Given the description of an element on the screen output the (x, y) to click on. 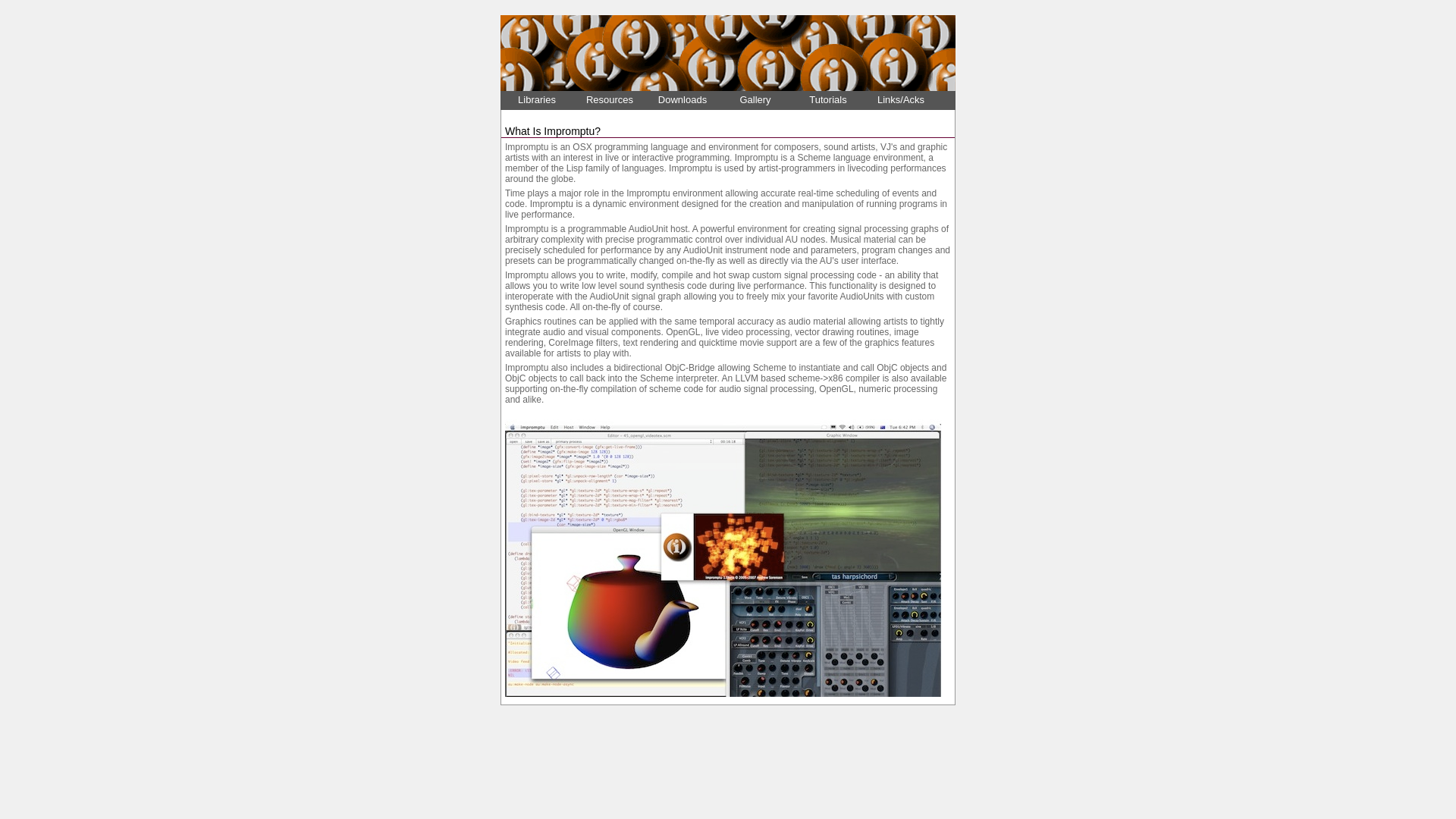
Resources Element type: text (609, 99)
Links/Acks Element type: text (900, 99)
Tutorials Element type: text (827, 99)
Gallery Element type: text (754, 99)
Downloads Element type: text (682, 99)
Libraries Element type: text (536, 99)
